Given the description of an element on the screen output the (x, y) to click on. 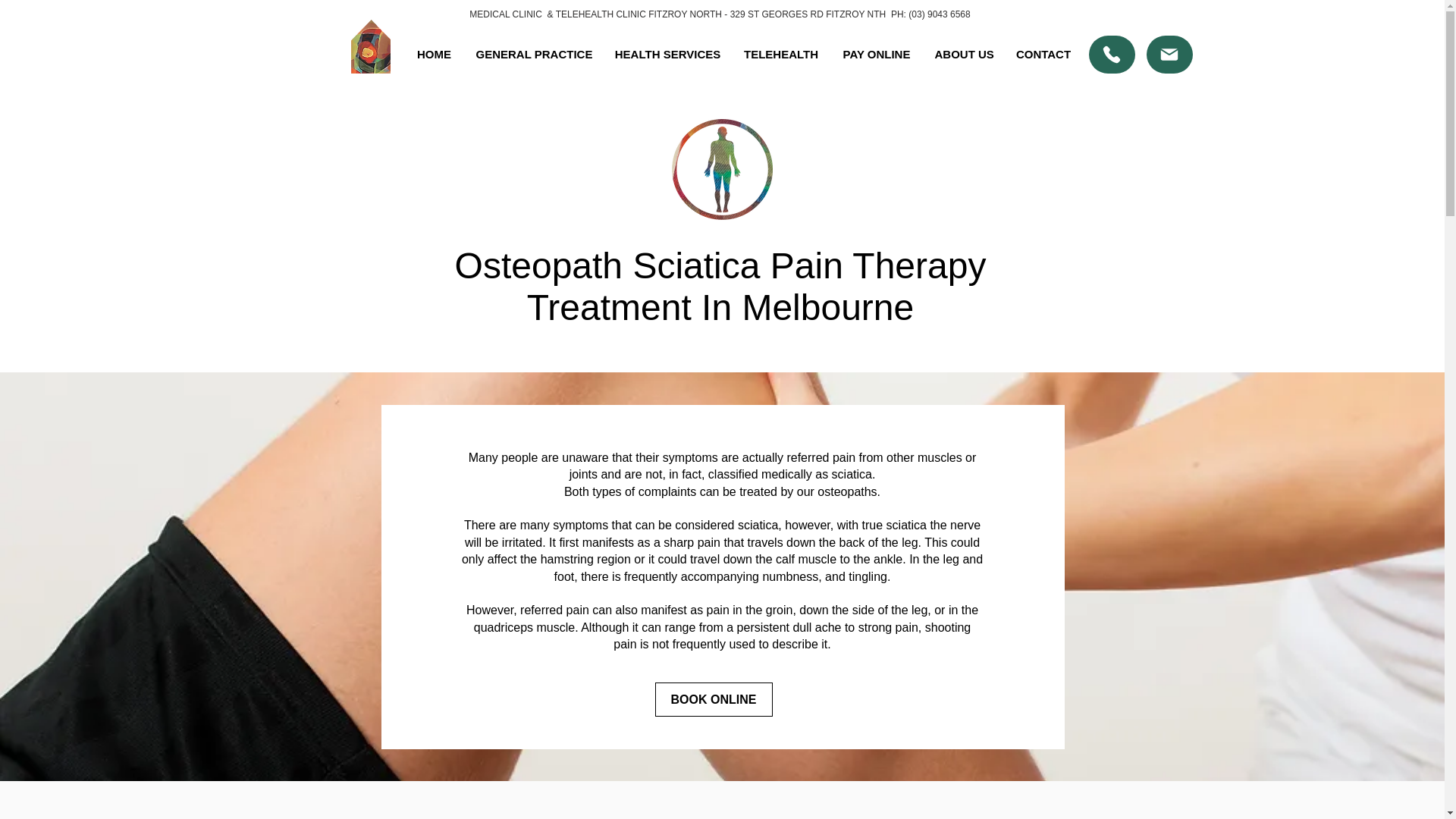
CONTACT (1042, 54)
PAY ONLINE (876, 54)
BOOK ONLINE (714, 699)
ABOUT US (963, 54)
TELEHEALTH (780, 54)
HOME (433, 54)
GENERAL PRACTICE (533, 54)
HEALTH SERVICES (668, 54)
